Given the description of an element on the screen output the (x, y) to click on. 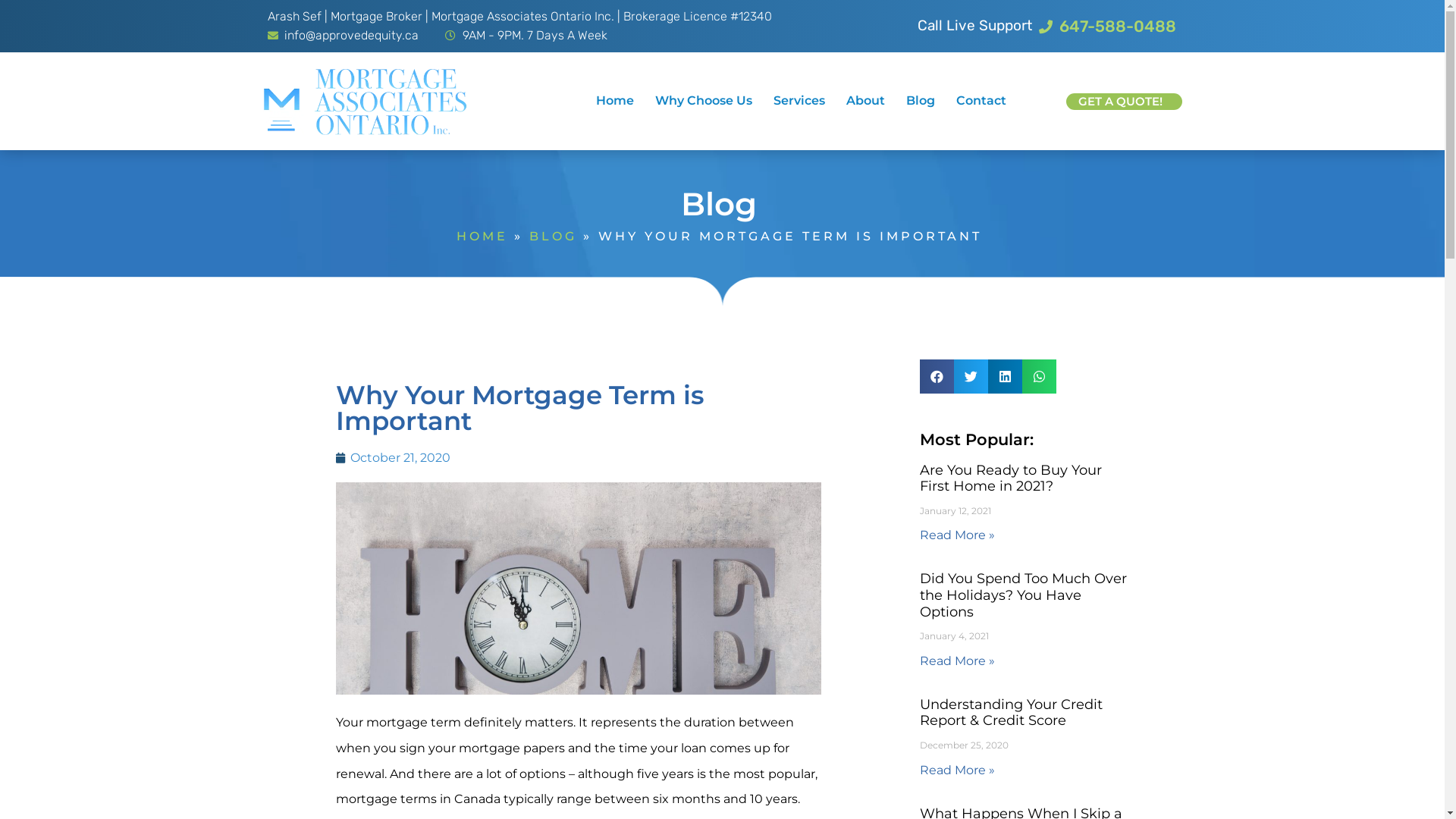
Understanding Your Credit Report & Credit Score Element type: text (1010, 712)
647-588-0488 Element type: text (1107, 26)
Did You Spend Too Much Over the Holidays? You Have Options Element type: text (1022, 594)
Are You Ready to Buy Your First Home in 2021? Element type: text (1010, 478)
Why Your Mortgage Term is Important Element type: hover (577, 588)
Contact Element type: text (980, 100)
About Element type: text (865, 100)
HOME Element type: text (482, 236)
Blog Element type: text (920, 100)
Home Element type: text (614, 100)
Services Element type: text (798, 100)
GET A QUOTE! Element type: text (1124, 101)
October 21, 2020 Element type: text (392, 457)
Why Choose Us Element type: text (703, 100)
BLOG Element type: text (553, 236)
info@approvedequity.ca Element type: text (342, 35)
